Given the description of an element on the screen output the (x, y) to click on. 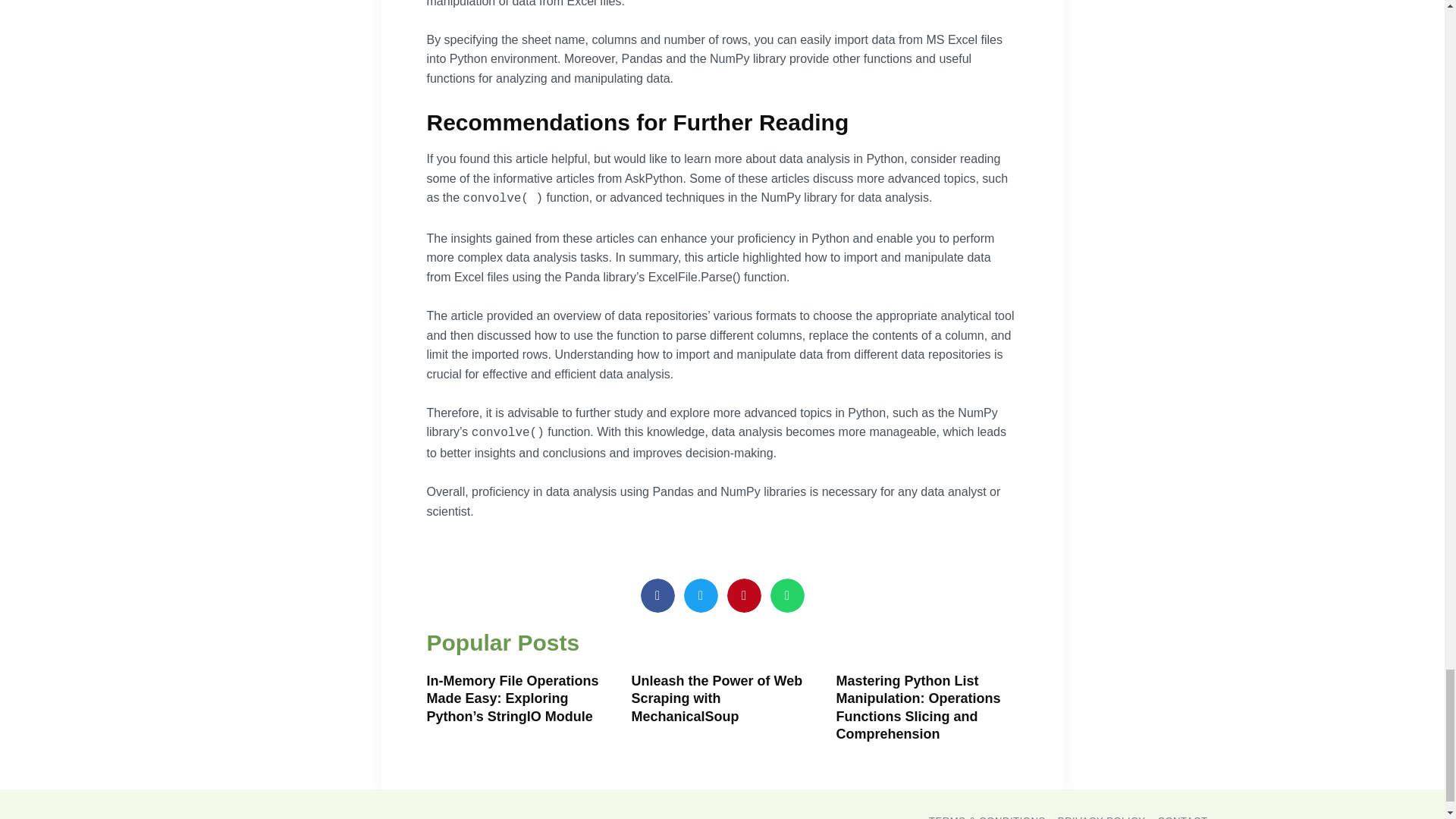
CONTACT (1182, 815)
PRIVACY POLICY (1101, 815)
Unleash the Power of Web Scraping with MechanicalSoup (716, 698)
